Given the description of an element on the screen output the (x, y) to click on. 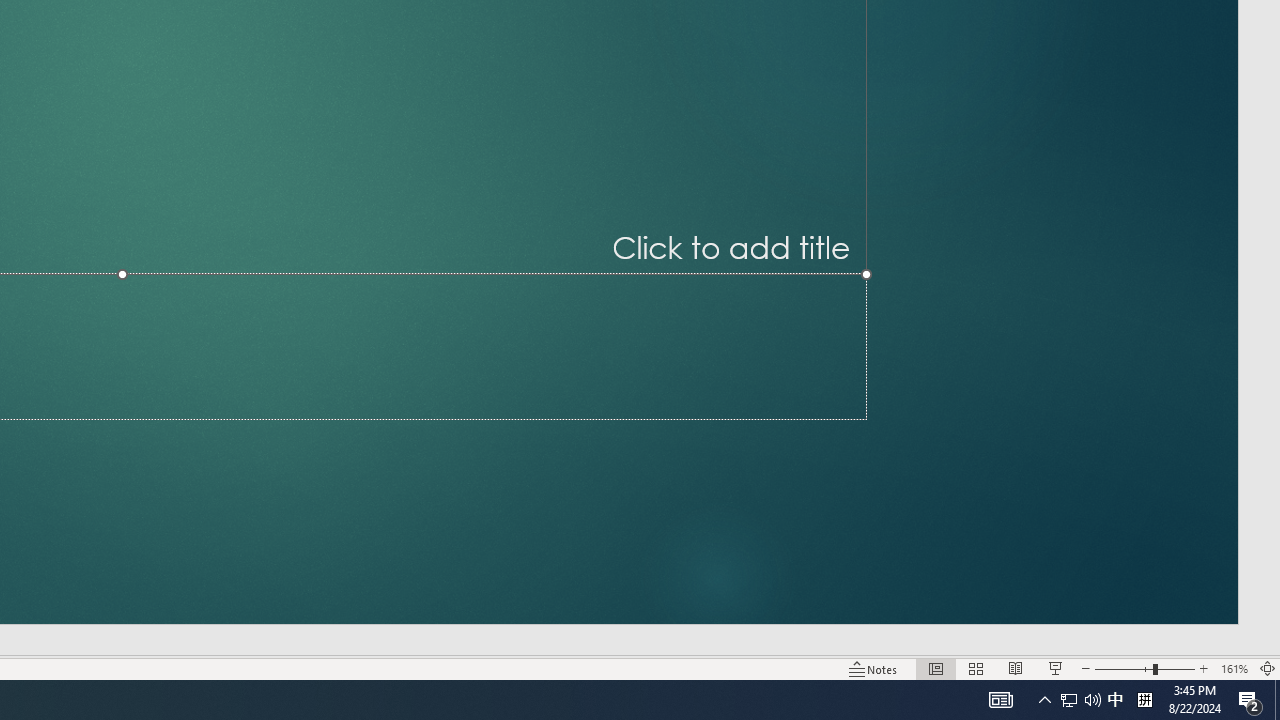
Zoom 161% (1234, 668)
